Given the description of an element on the screen output the (x, y) to click on. 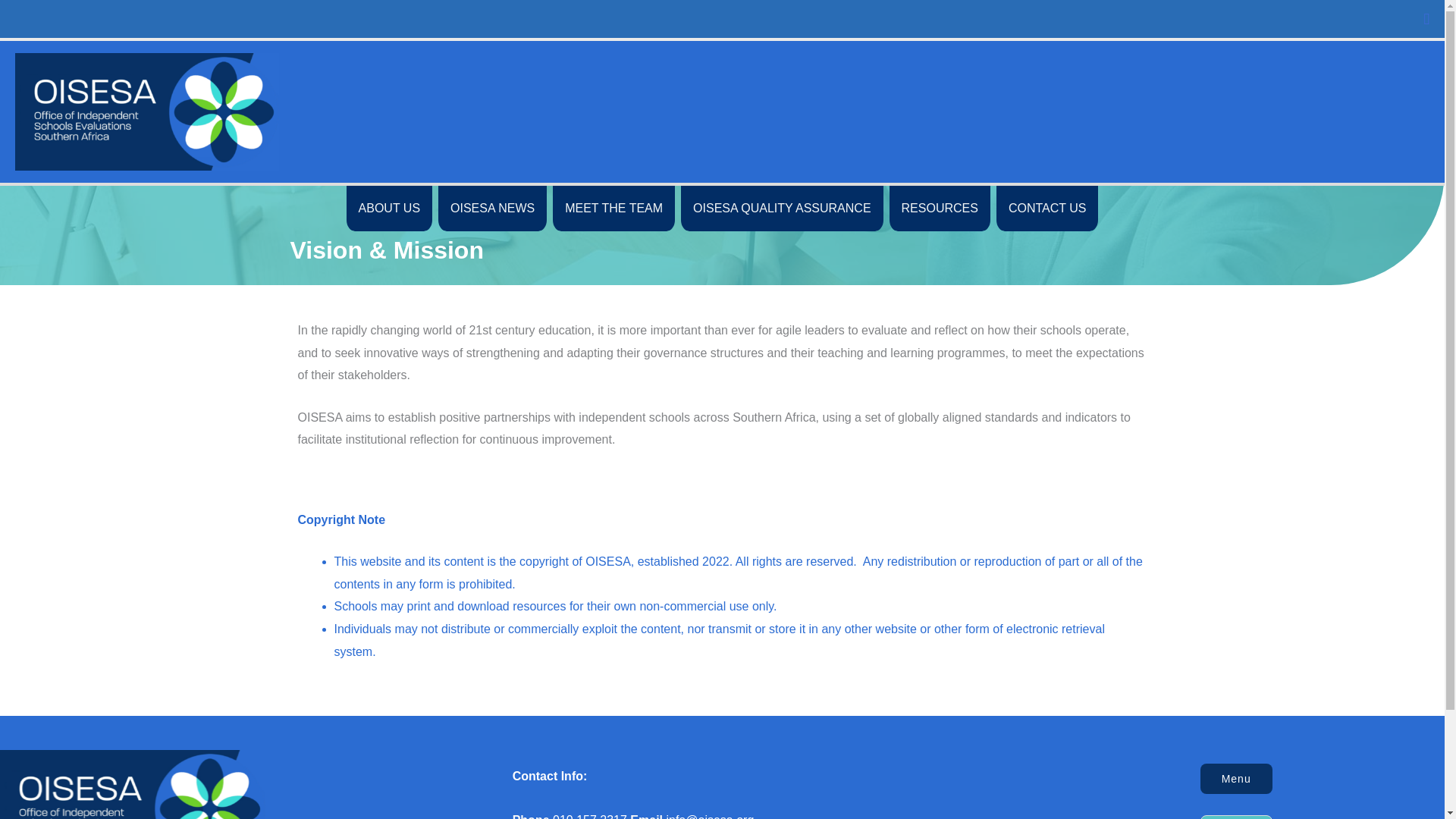
ABOUT US (389, 207)
RESOURCES (939, 207)
OISESA NEWS (492, 207)
OISESA QUALITY ASSURANCE (781, 207)
MEET THE TEAM (614, 207)
CONTACT US (1047, 207)
